Given the description of an element on the screen output the (x, y) to click on. 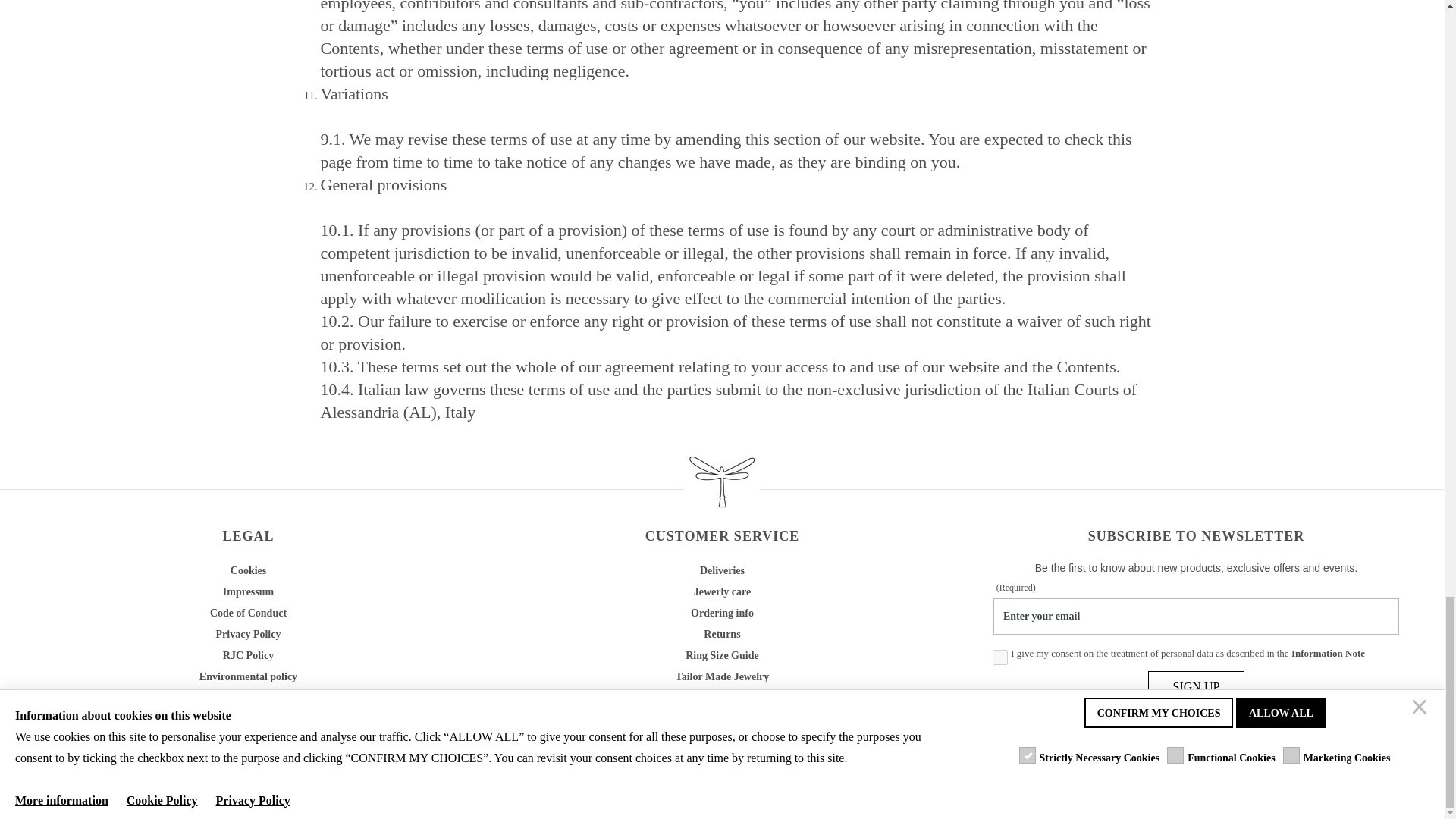
Credits (248, 745)
Privacy Policy (248, 633)
RJC Policy (247, 655)
Jewerly care (722, 591)
Environmental policy (248, 676)
Code of Conduct (247, 613)
Terms of use (248, 718)
Ordering info (722, 613)
yes (999, 657)
Deliveries (722, 570)
